Given the description of an element on the screen output the (x, y) to click on. 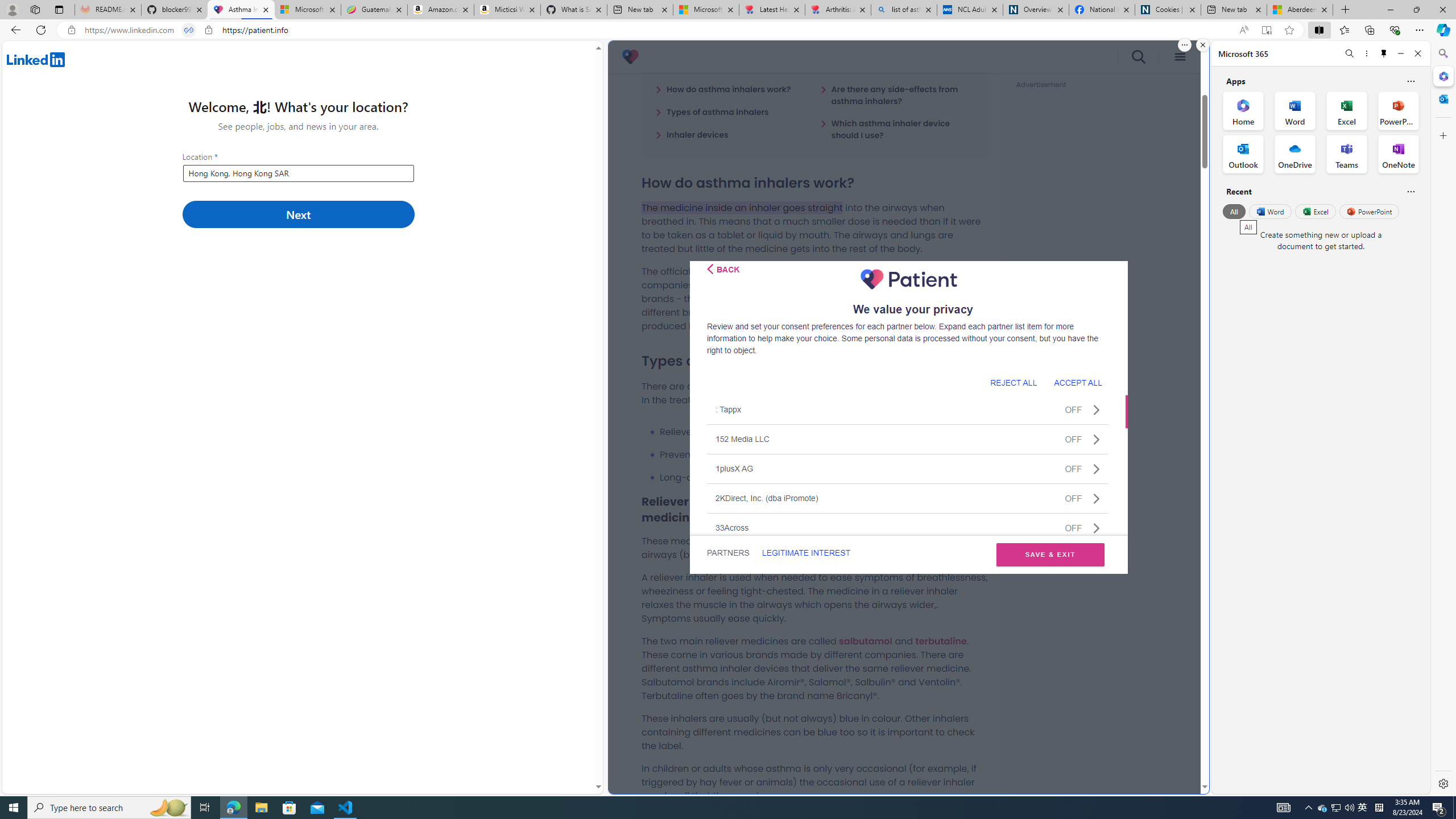
33AcrossOFF (907, 527)
LEGITIMATE INTEREST (805, 552)
Outlook Office App (1243, 154)
Close split screen. (1202, 45)
OneDrive Office App (1295, 154)
All (1233, 210)
salbutamol (865, 640)
